Given the description of an element on the screen output the (x, y) to click on. 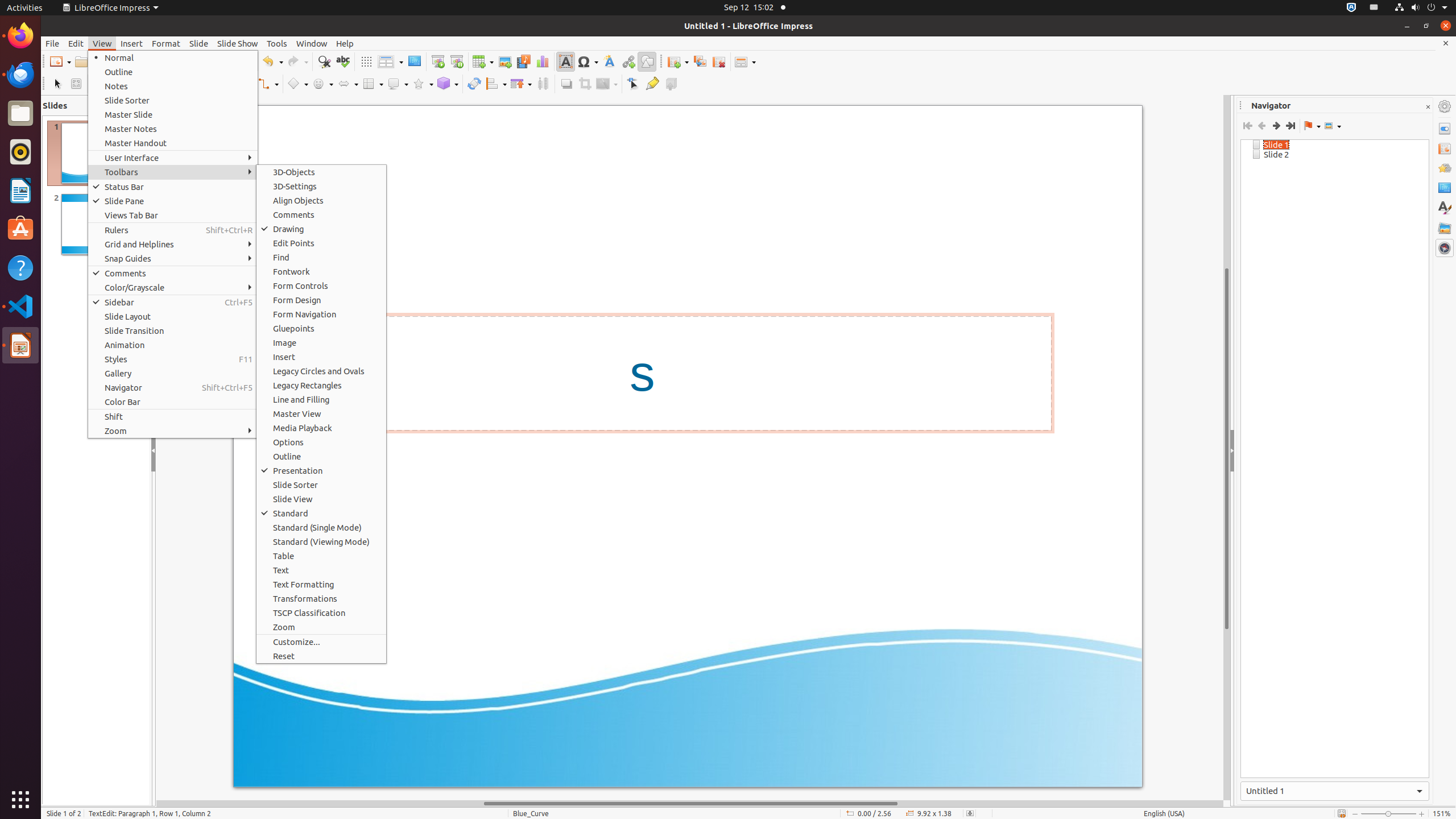
Table Element type: check-menu-item (321, 555)
Master Notes Element type: radio-menu-item (172, 128)
Format Element type: menu (165, 43)
View Element type: menu (102, 43)
Drawing Element type: check-menu-item (321, 228)
